Given the description of an element on the screen output the (x, y) to click on. 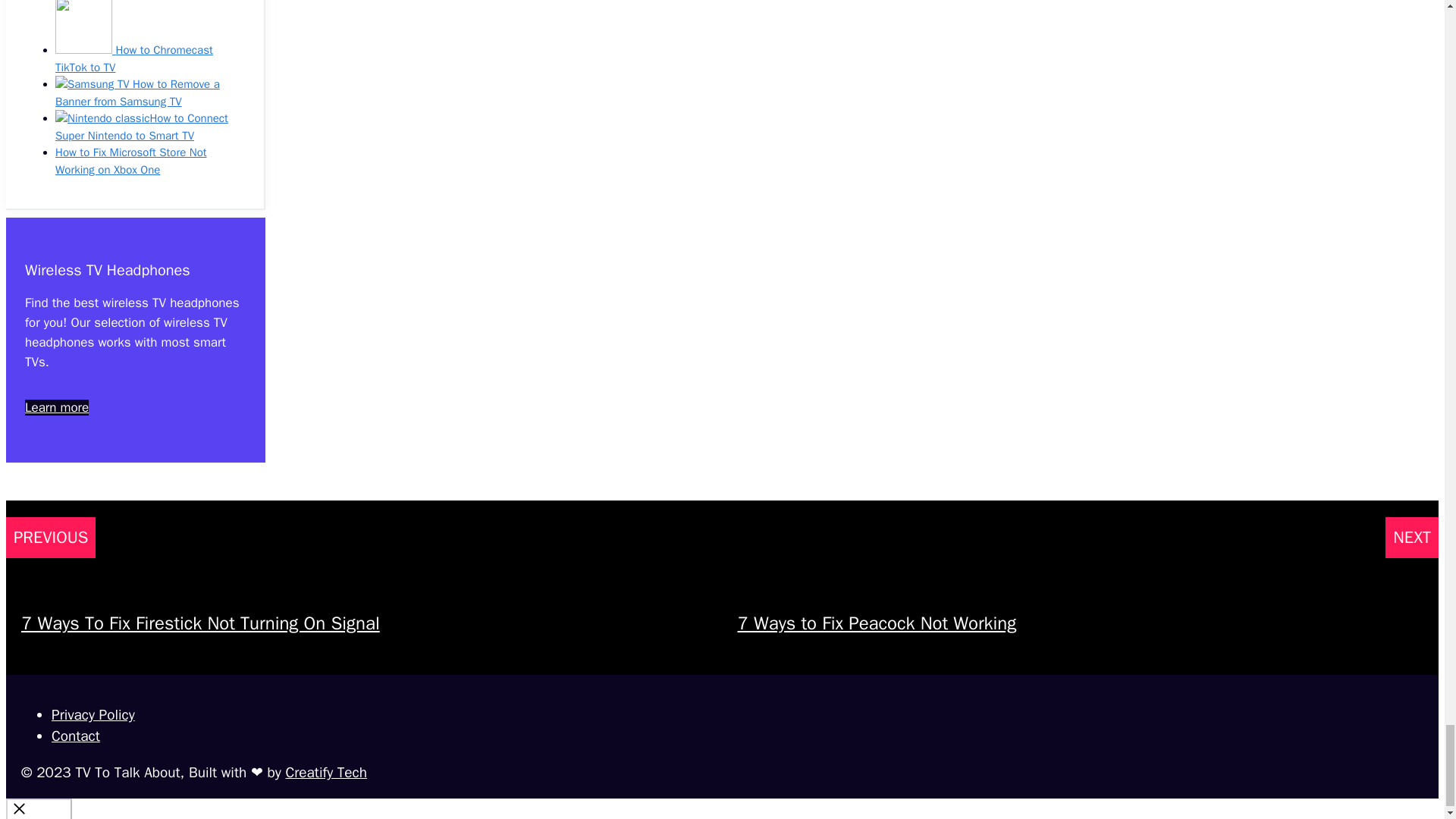
How to Connect Super Nintendo to Smart TV (141, 126)
How to Fix Microsoft Store Not Working on Xbox One (130, 160)
How to Chromecast TikTok to TV (133, 58)
Learn more (56, 407)
How to Remove a Banner from Samsung TV (137, 92)
